Given the description of an element on the screen output the (x, y) to click on. 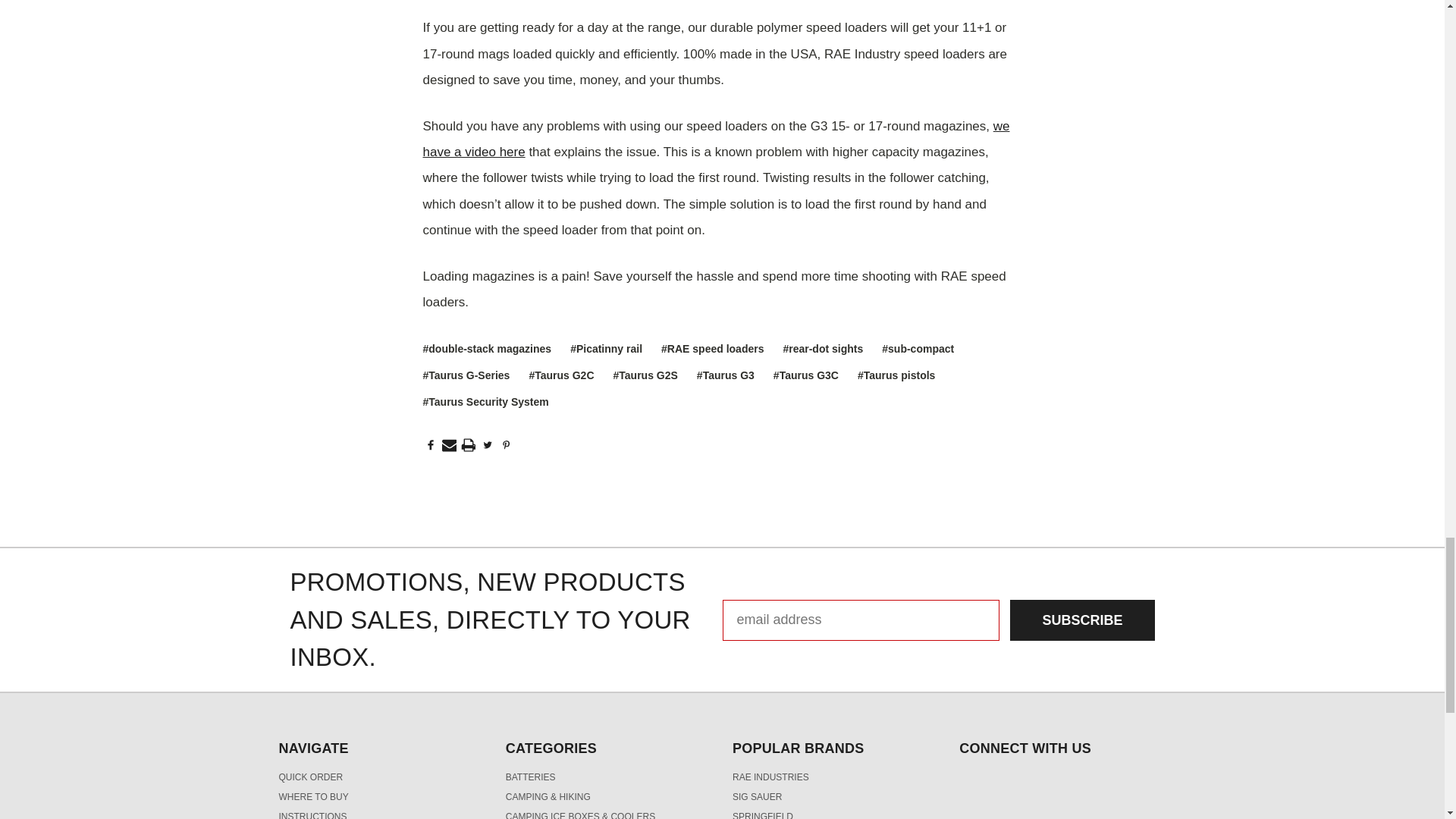
Subscribe (1082, 619)
